Given the description of an element on the screen output the (x, y) to click on. 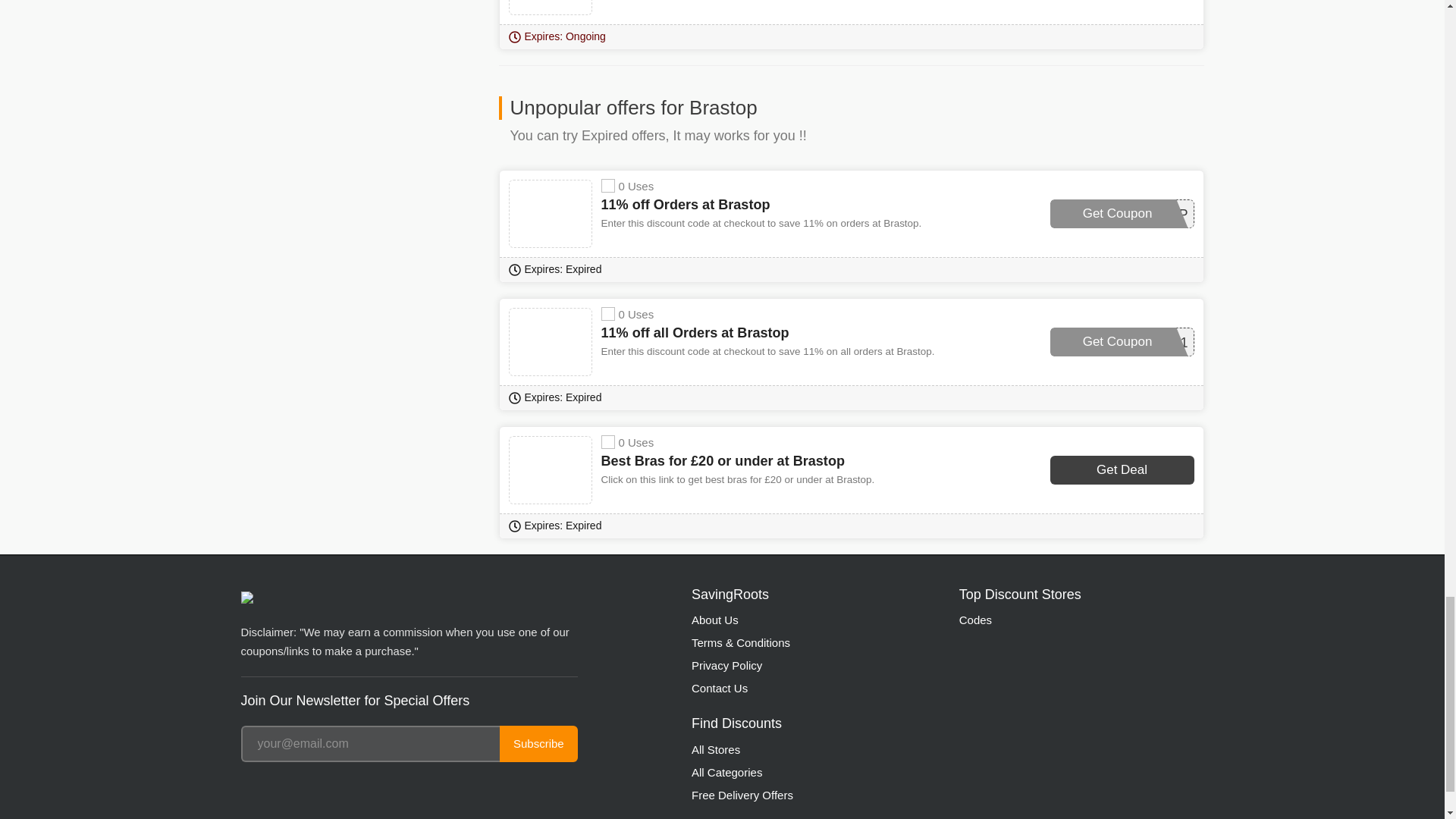
Subscribe (538, 743)
